Given the description of an element on the screen output the (x, y) to click on. 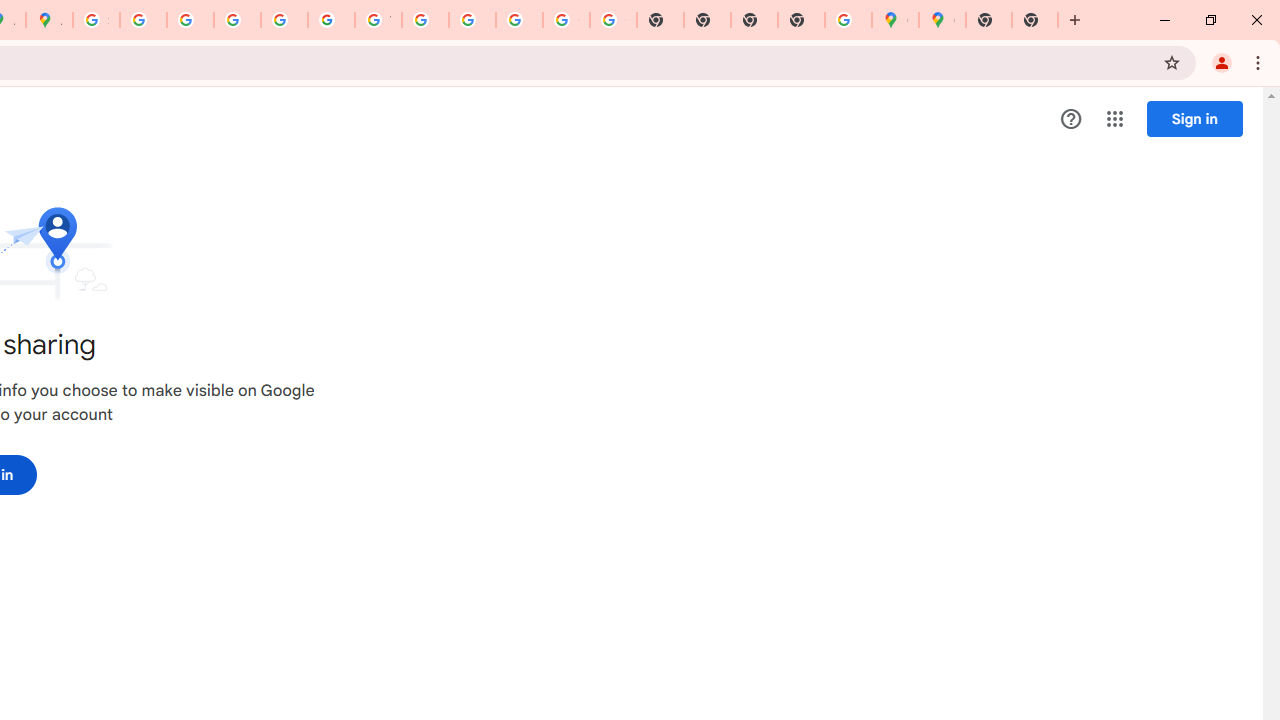
New Tab (801, 20)
YouTube (377, 20)
Google Maps (895, 20)
Use Google Maps in Space - Google Maps Help (848, 20)
